Given the description of an element on the screen output the (x, y) to click on. 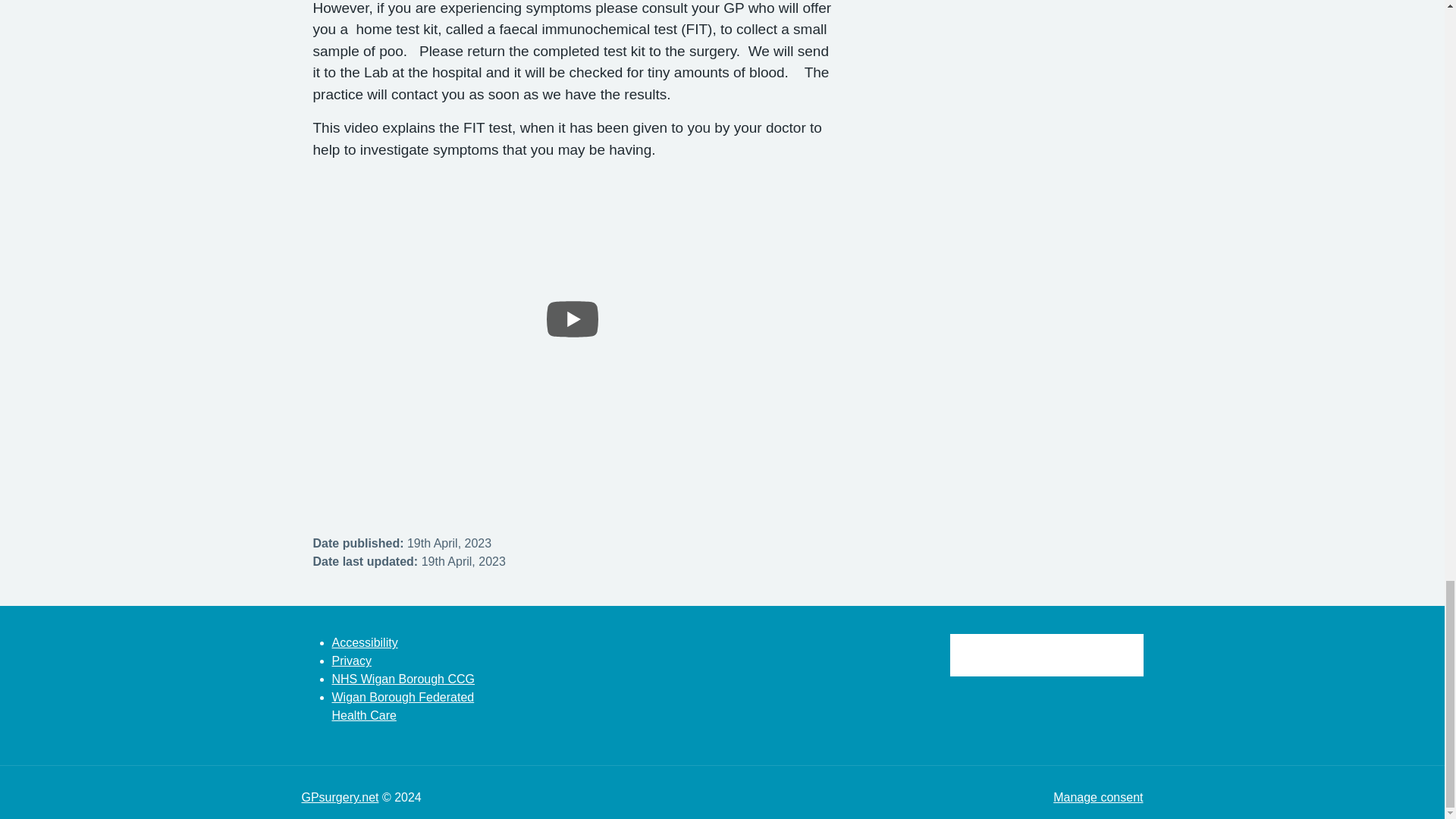
Privacy (351, 660)
NHS Wigan Borough CCG (403, 678)
Manage consent (1097, 797)
Accessibility (364, 642)
GPsurgery.net (339, 797)
Wigan Borough Federated Health Care (402, 706)
